Given the description of an element on the screen output the (x, y) to click on. 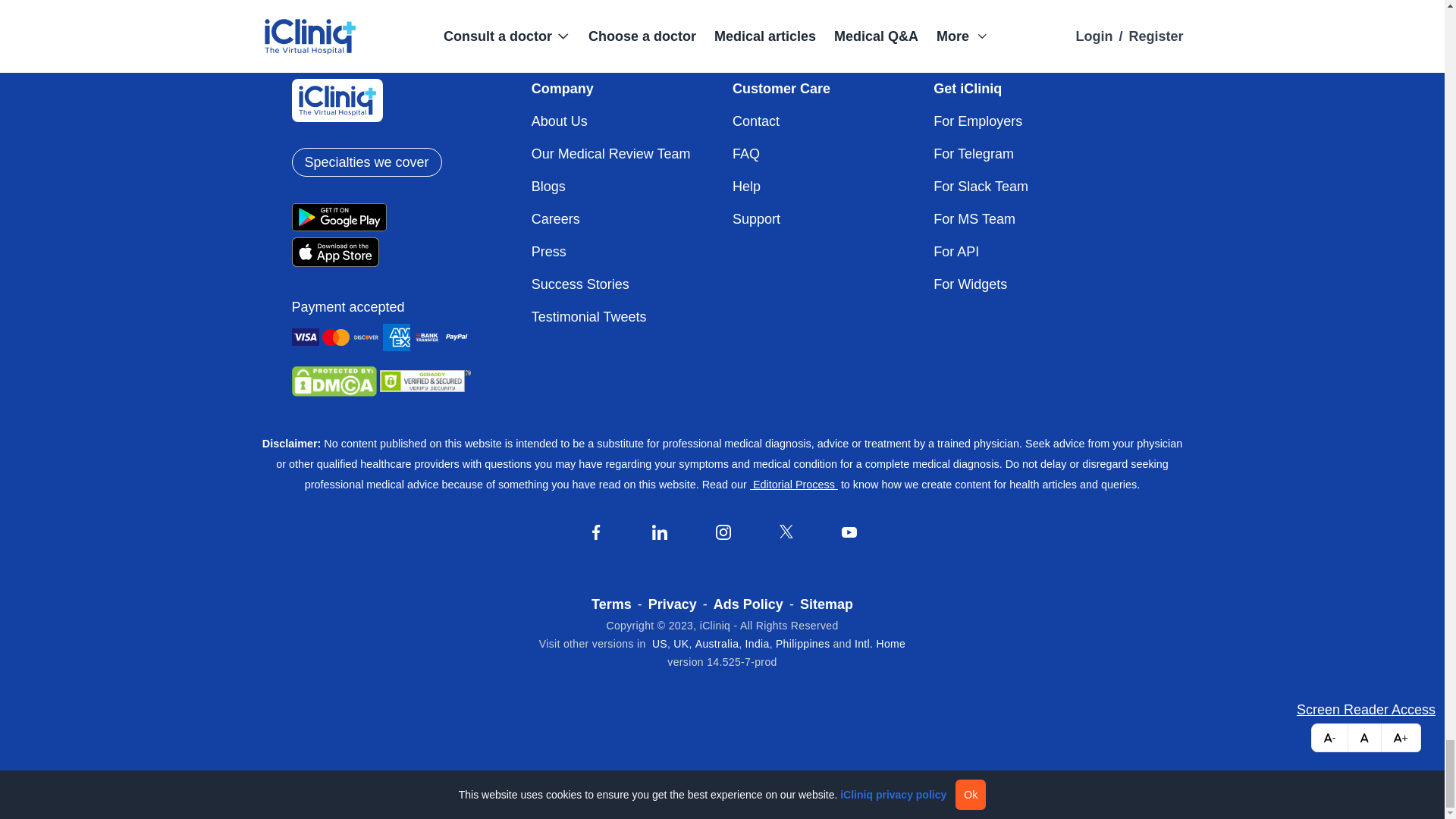
godaddy ssl seal (425, 381)
iCliniq America (659, 644)
iCliniq Australia (717, 644)
DMCA.com Protection Status (334, 381)
youtube (849, 531)
iCliniq UK (680, 644)
twitter (785, 531)
instagram (723, 531)
facebook (596, 531)
linkedin (659, 531)
